Given the description of an element on the screen output the (x, y) to click on. 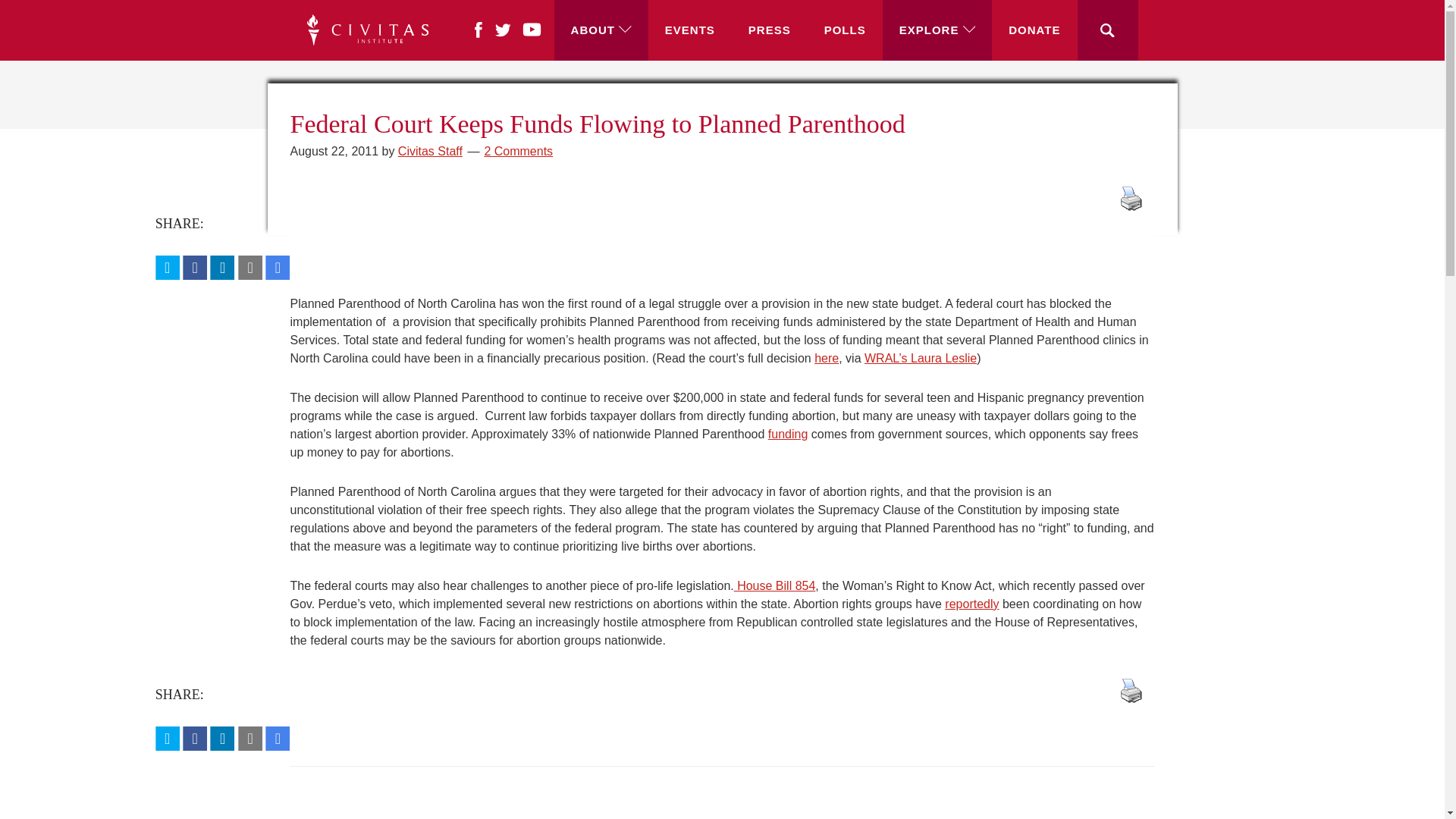
EVENTS (689, 30)
POLLS (845, 30)
2 Comments (518, 151)
DONATE (1034, 30)
Print Content (1131, 198)
PRESS (770, 30)
Civitas Staff (430, 151)
Print Content (1131, 690)
